Given the description of an element on the screen output the (x, y) to click on. 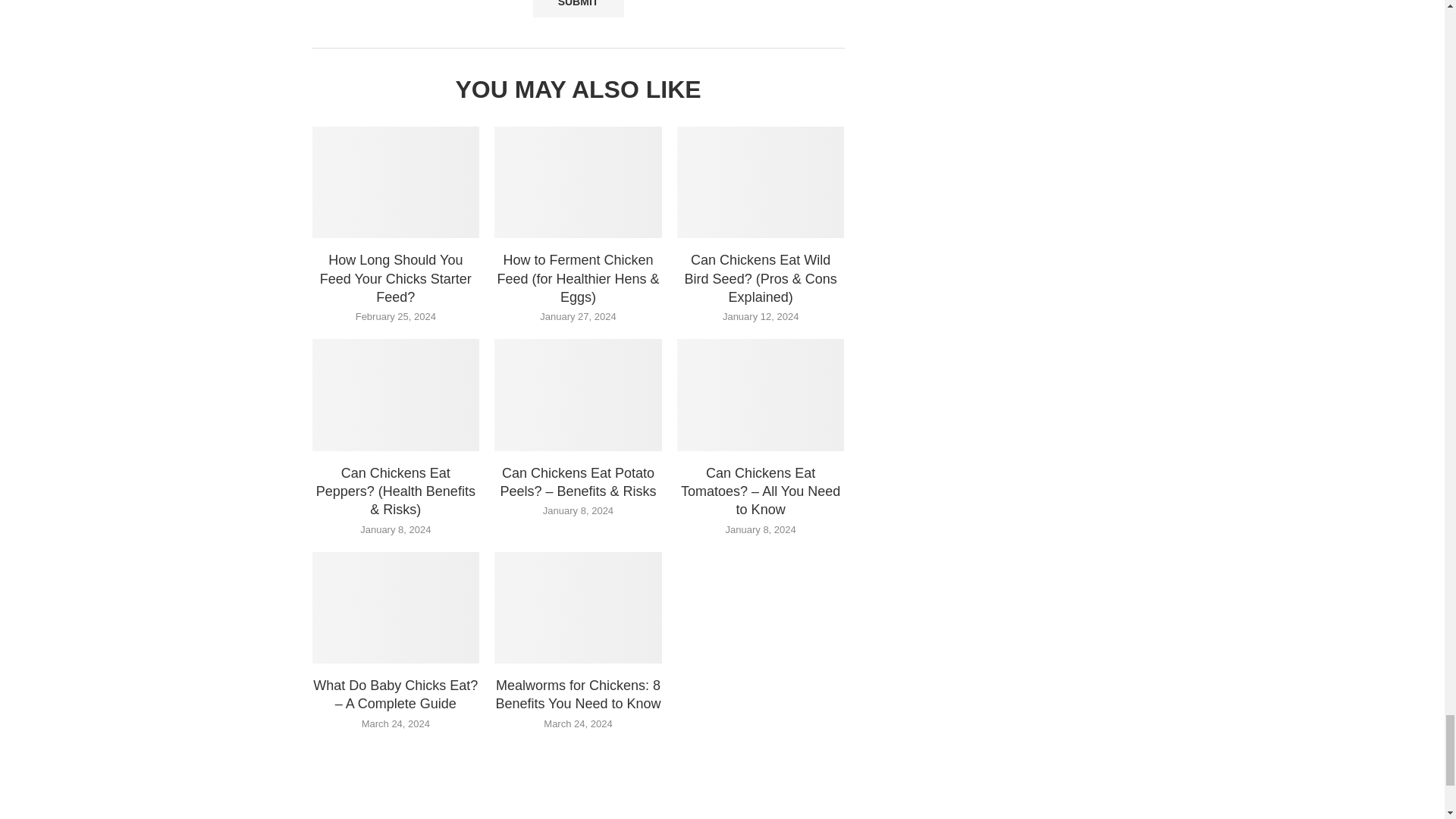
Submit (577, 8)
Mealworms for Chickens: 8 Benefits You Need to Know (578, 607)
How Long Should You Feed Your Chicks Starter Feed? (396, 182)
